Given the description of an element on the screen output the (x, y) to click on. 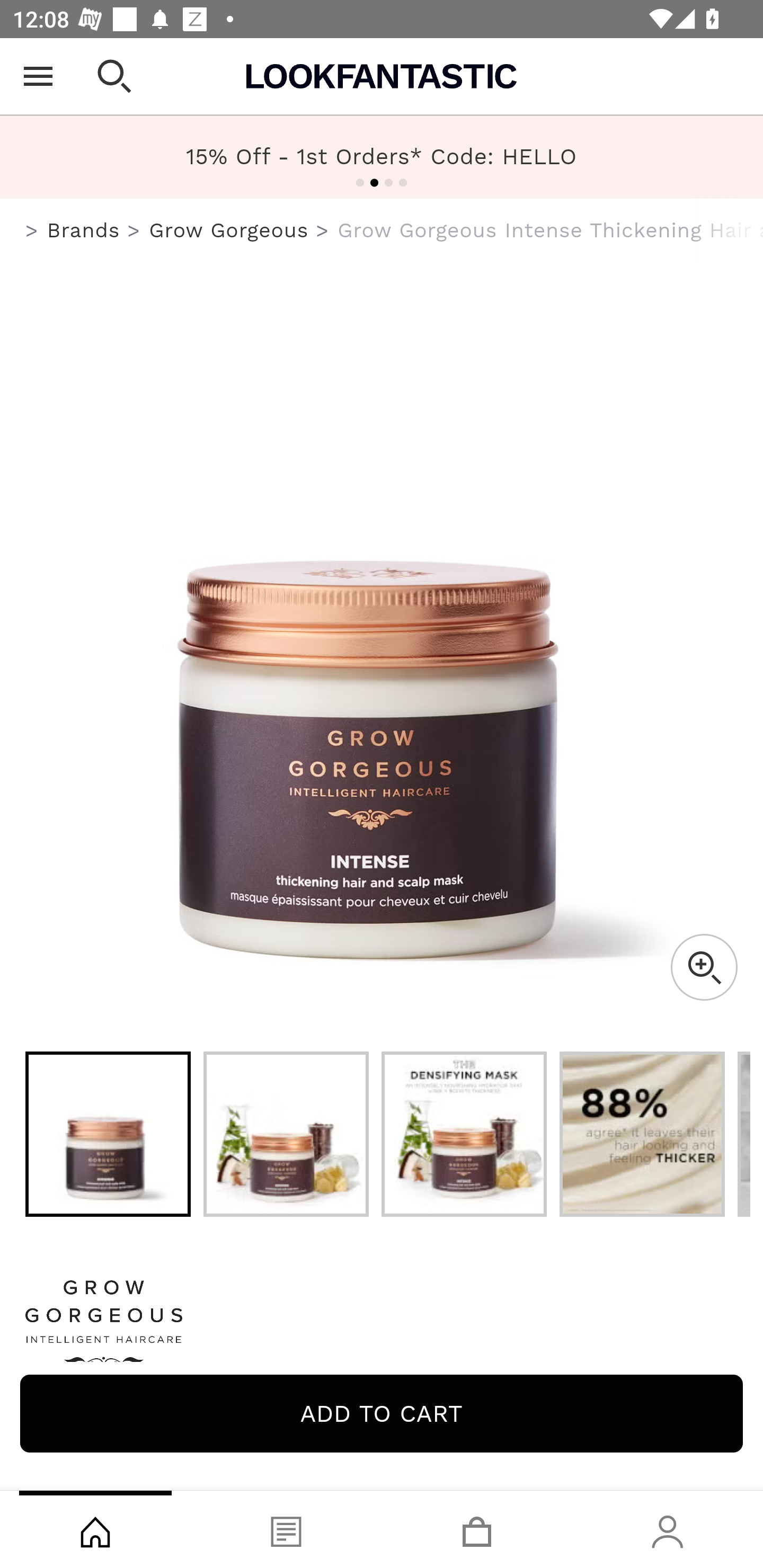
Open Menu (38, 75)
Open search (114, 75)
Lookfantastic USA (381, 75)
us.lookfantastic (32, 230)
Brands (82, 230)
Grow Gorgeous (228, 230)
Zoom (703, 966)
Grow Gorgeous (381, 1327)
Add to cart (381, 1413)
Shop, tab, 1 of 4 (95, 1529)
Blog, tab, 2 of 4 (285, 1529)
Basket, tab, 3 of 4 (476, 1529)
Account, tab, 4 of 4 (667, 1529)
